Given the description of an element on the screen output the (x, y) to click on. 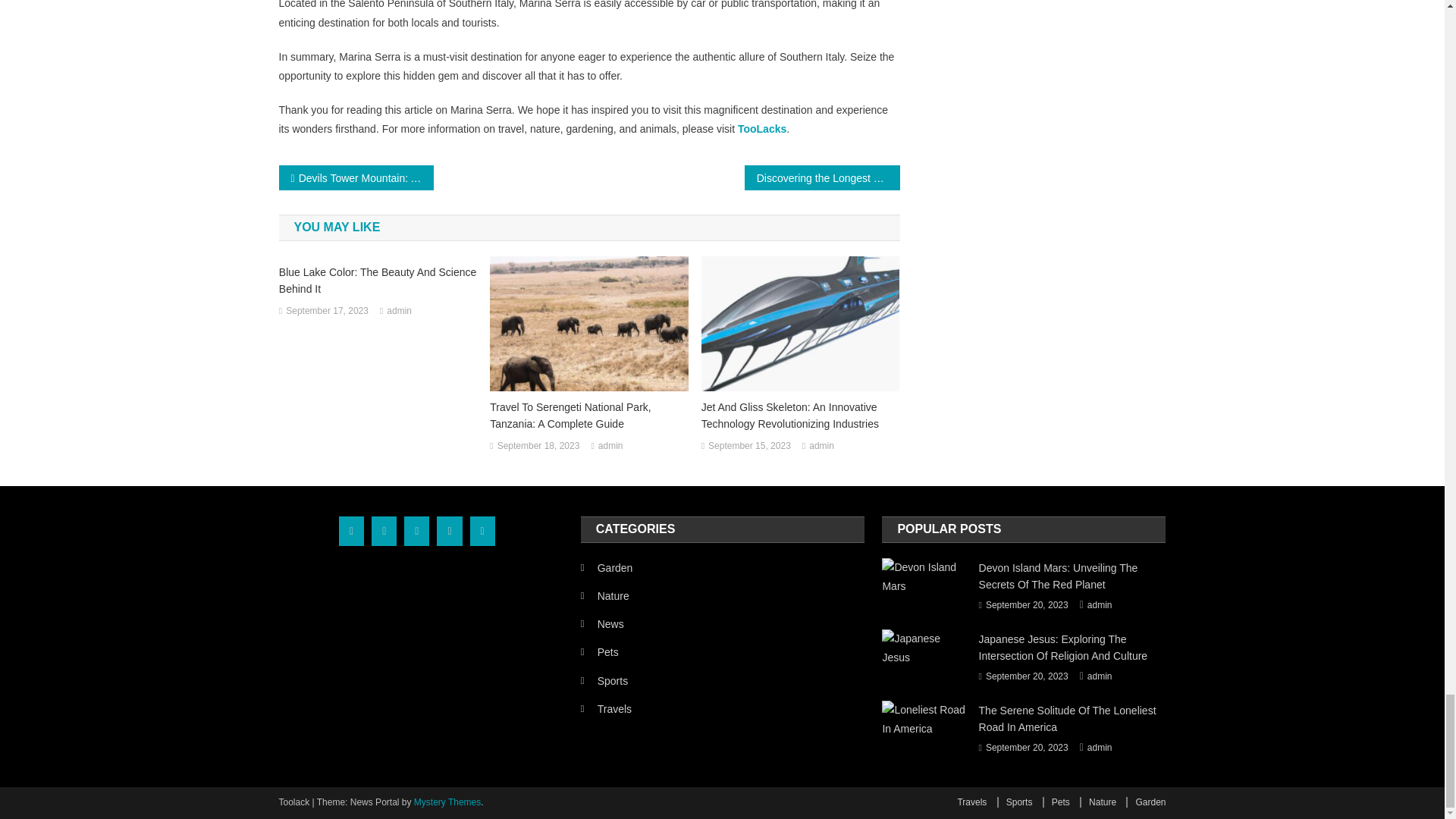
admin (399, 311)
September 17, 2023 (326, 311)
Devils Tower Mountain: A Natural Wonder and Cultural Icon (356, 177)
September 15, 2023 (748, 446)
Blue Lake Color: The Beauty And Science Behind It (378, 280)
September 18, 2023 (538, 446)
TooLacks (762, 128)
admin (821, 446)
admin (610, 446)
